Given the description of an element on the screen output the (x, y) to click on. 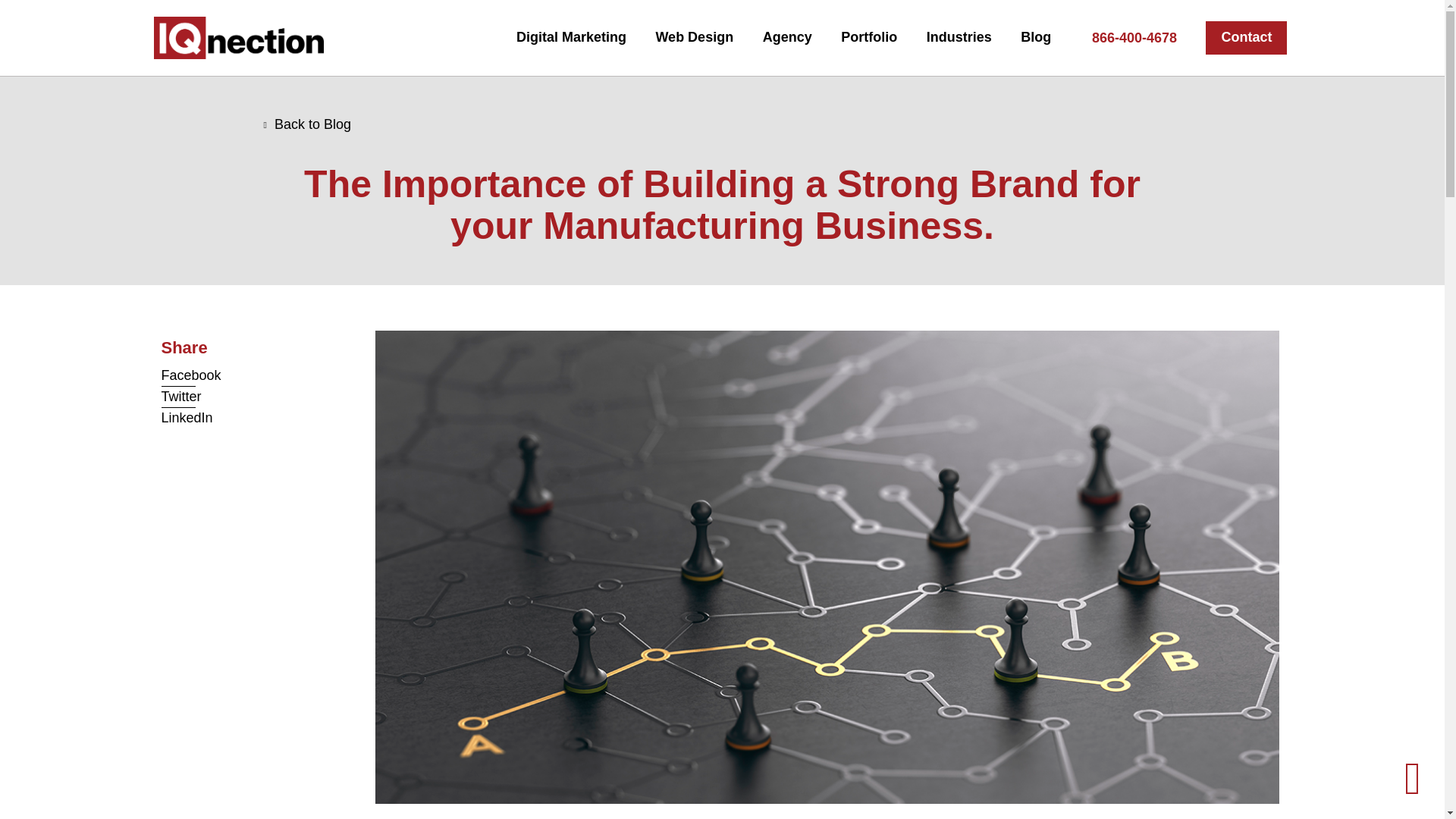
Web Design (694, 37)
866-400-4678 (1134, 37)
Digital Marketing (571, 37)
Industries (958, 37)
Blog (1035, 37)
Contact (1246, 37)
Agency (787, 37)
Portfolio (868, 37)
